Given the description of an element on the screen output the (x, y) to click on. 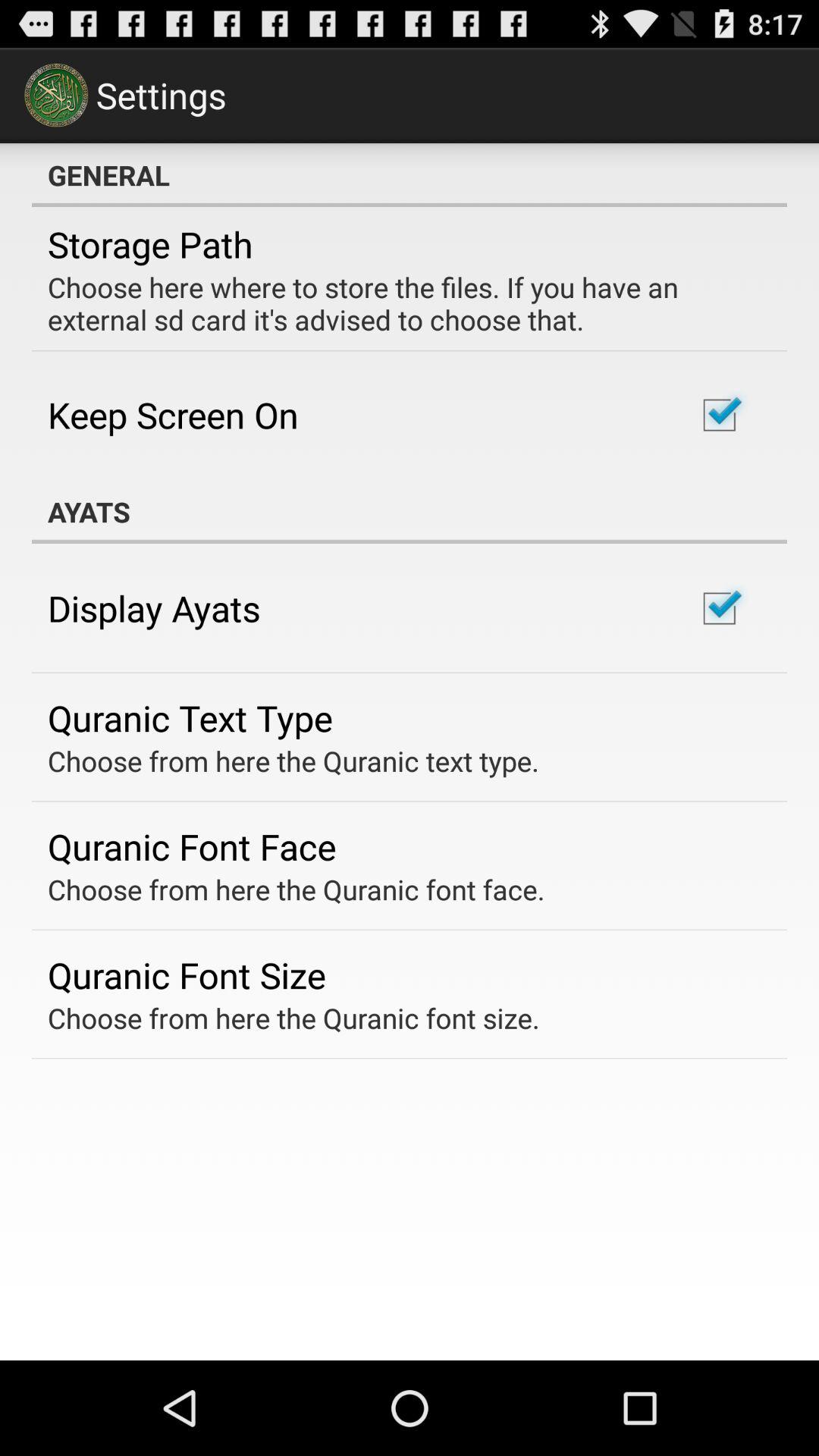
choose item above the storage path app (409, 175)
